Given the description of an element on the screen output the (x, y) to click on. 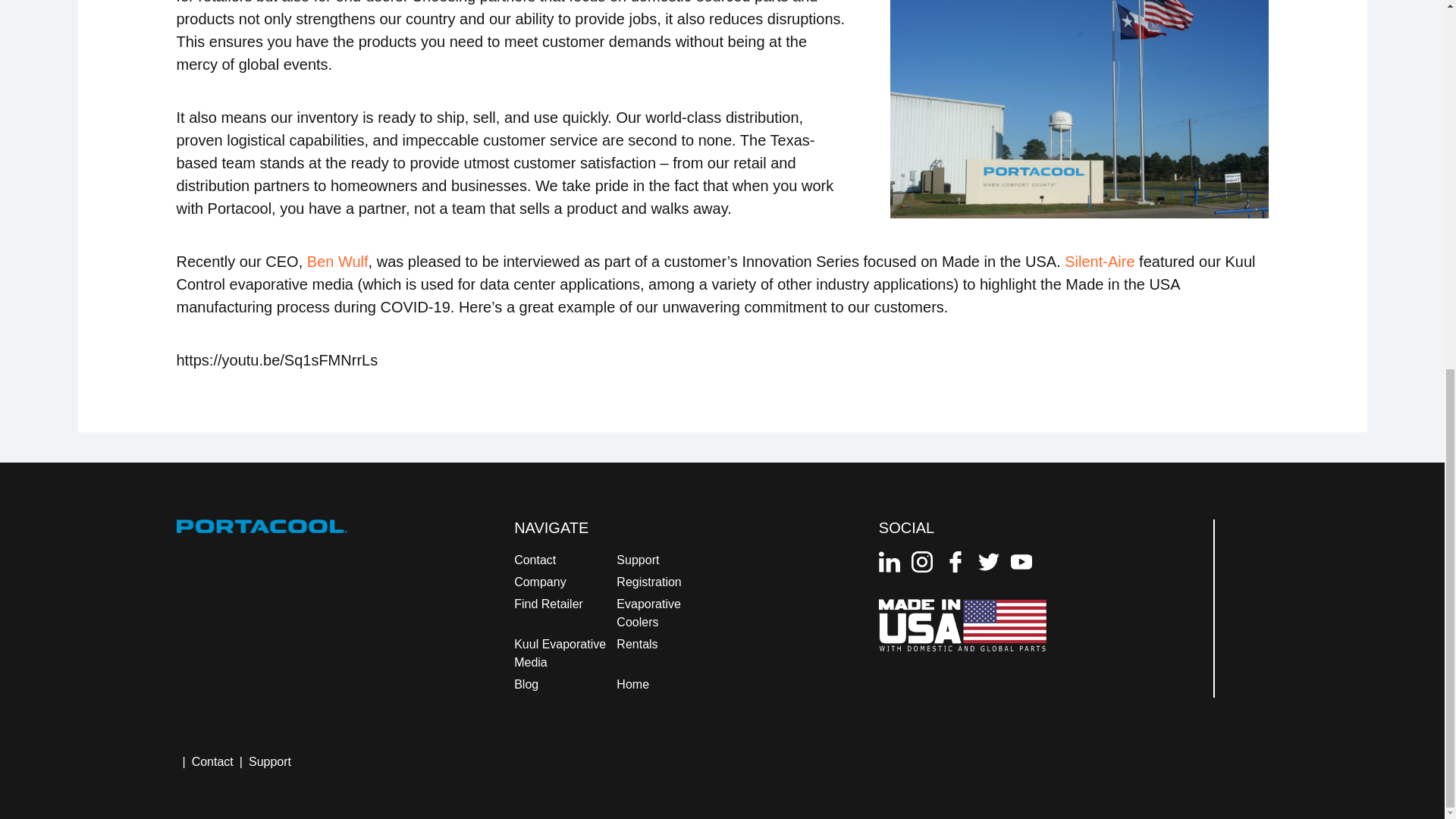
Contact (534, 559)
Ben Wulf (337, 261)
Support (637, 559)
Company (539, 581)
Portacool Evaporative Coolers (1078, 109)
Silent-Aire (1099, 261)
